Given the description of an element on the screen output the (x, y) to click on. 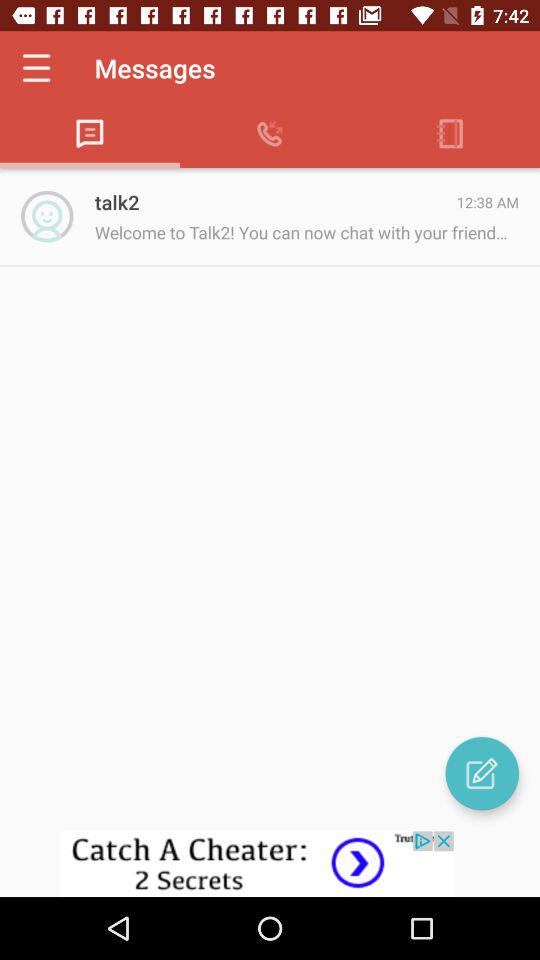
write a new message (482, 773)
